Given the description of an element on the screen output the (x, y) to click on. 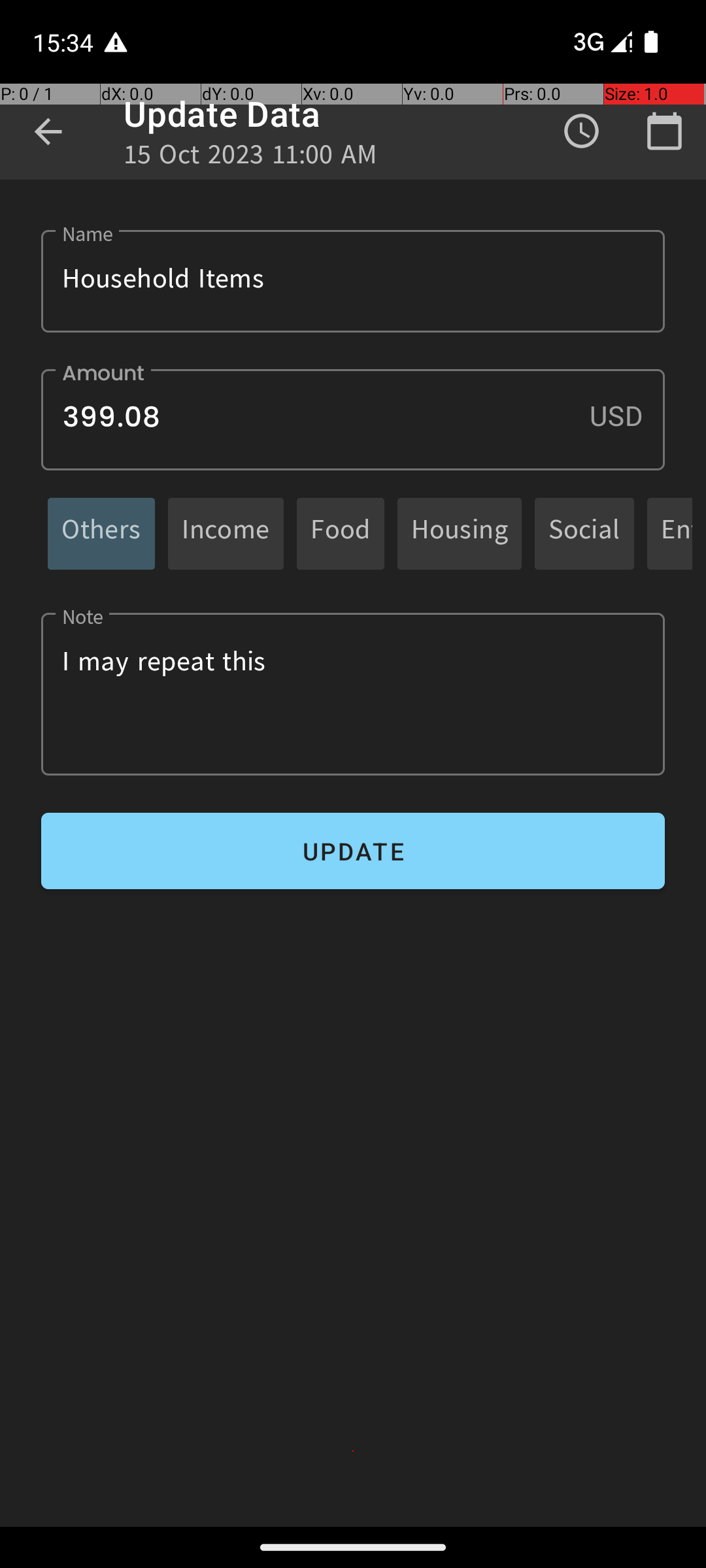
Update Data Element type: android.widget.TextView (221, 113)
15 Oct 2023 11:00 AM Element type: android.widget.TextView (250, 157)
Time Element type: android.widget.TextView (580, 131)
Household Items Element type: android.widget.EditText (352, 280)
399.08 Element type: android.widget.EditText (352, 419)
I may repeat this Element type: android.widget.EditText (352, 693)
UPDATE Element type: android.widget.Button (352, 850)
Others Element type: android.widget.TextView (101, 533)
Income Element type: android.widget.TextView (225, 533)
Food Element type: android.widget.TextView (340, 533)
Housing Element type: android.widget.TextView (459, 533)
Social Element type: android.widget.TextView (584, 533)
Entertainment Element type: android.widget.TextView (676, 533)
